Given the description of an element on the screen output the (x, y) to click on. 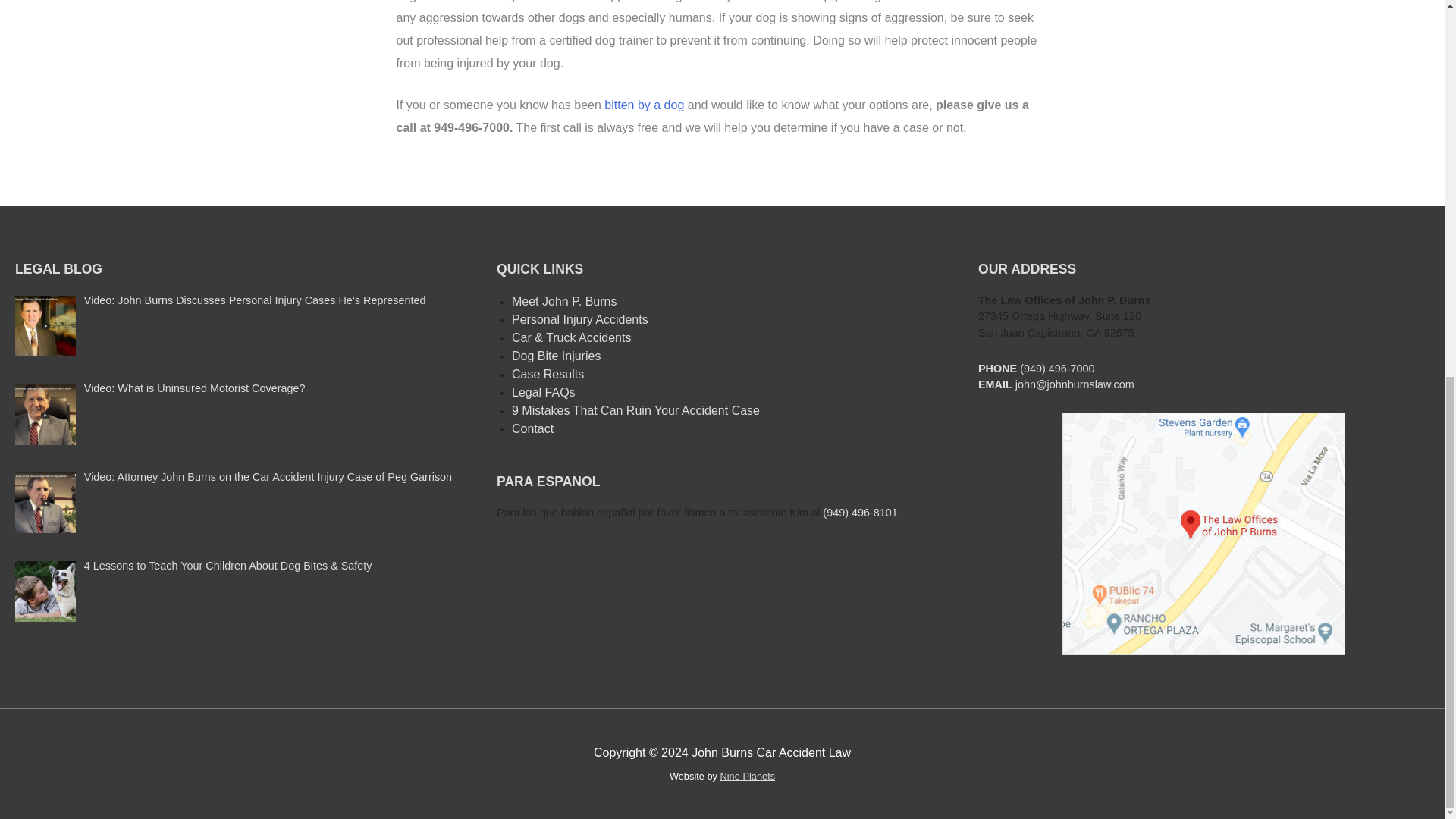
Case Results (547, 373)
Meet John P. Burns (563, 300)
bitten by a dog (644, 104)
Dog Bite Injuries (555, 355)
Video: What is Uninsured Motorist Coverage? (194, 387)
Dog Bites (644, 104)
Personal Injury Accidents (579, 318)
Legal FAQs (543, 391)
